Given the description of an element on the screen output the (x, y) to click on. 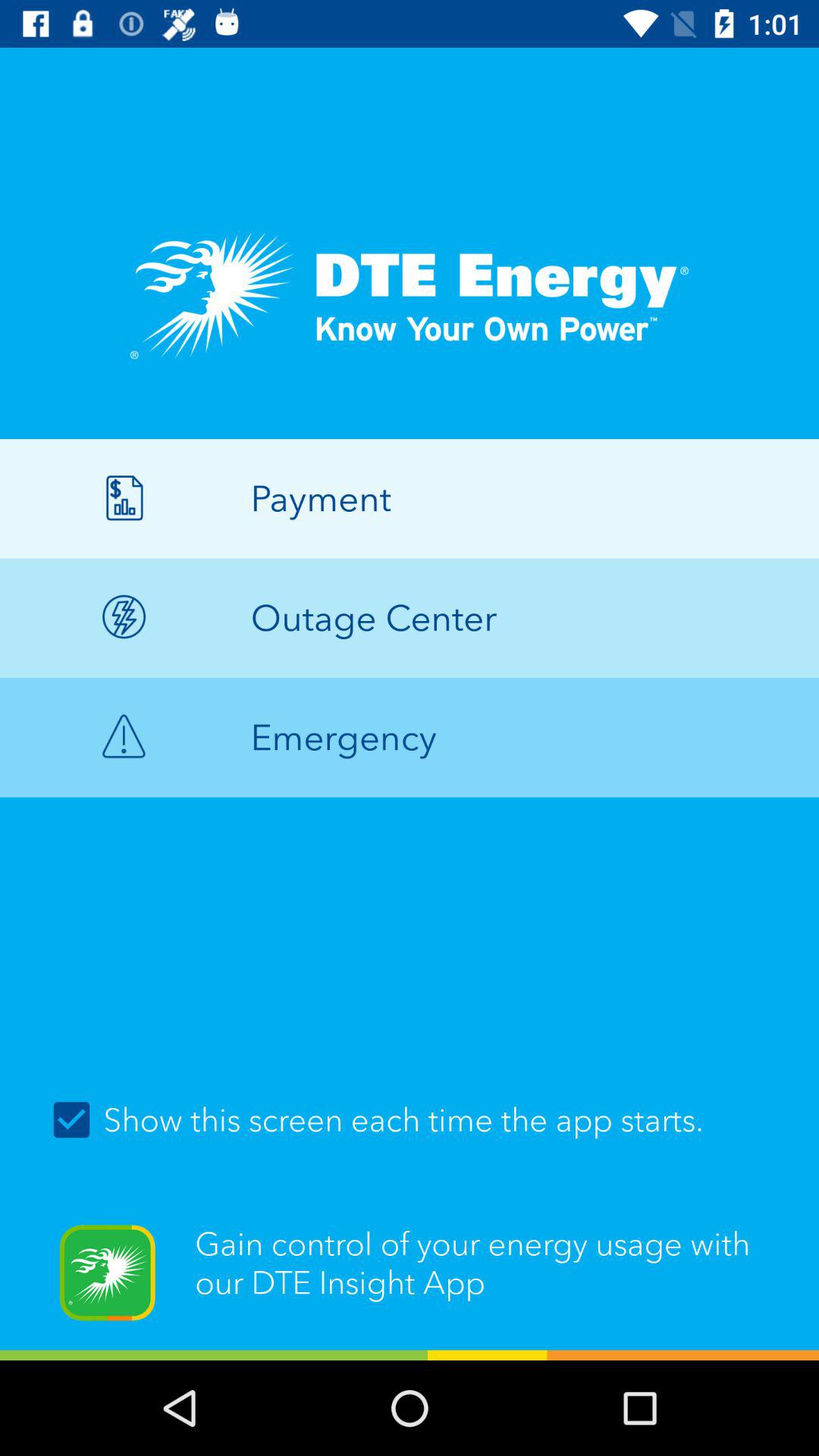
swipe to payment (409, 498)
